Given the description of an element on the screen output the (x, y) to click on. 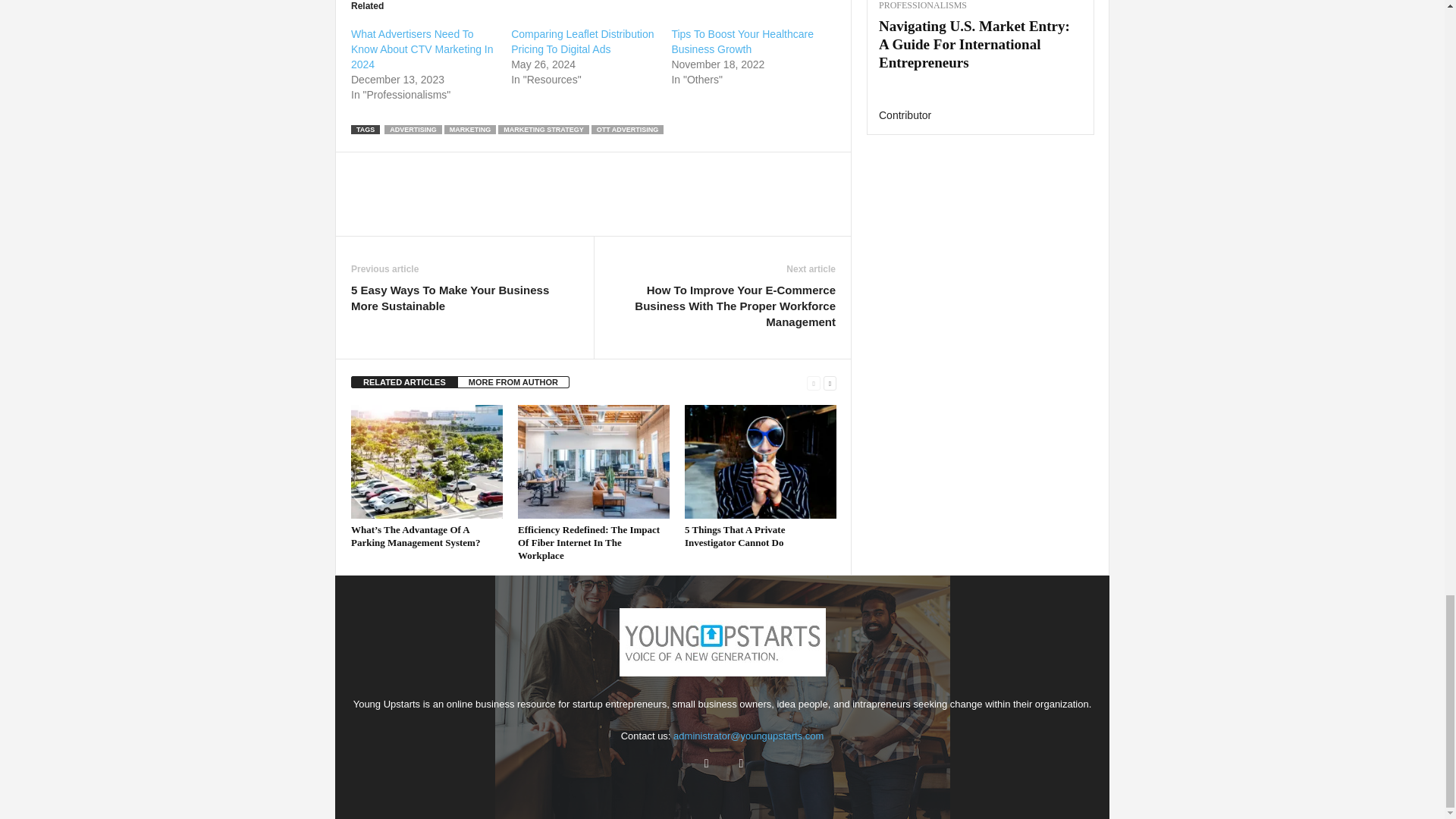
What Advertisers Need To Know About CTV Marketing In 2024 (421, 48)
ADVERTISING (413, 129)
What Advertisers Need To Know About CTV Marketing In 2024 (421, 48)
Comparing Leaflet Distribution Pricing To Digital Ads (582, 41)
Comparing Leaflet Distribution Pricing To Digital Ads (582, 41)
OTT ADVERTISING (627, 129)
bottomFacebookLike (390, 167)
MARKETING STRATEGY (542, 129)
MARKETING (470, 129)
Tips To Boost Your Healthcare Business Growth (742, 41)
